Given the description of an element on the screen output the (x, y) to click on. 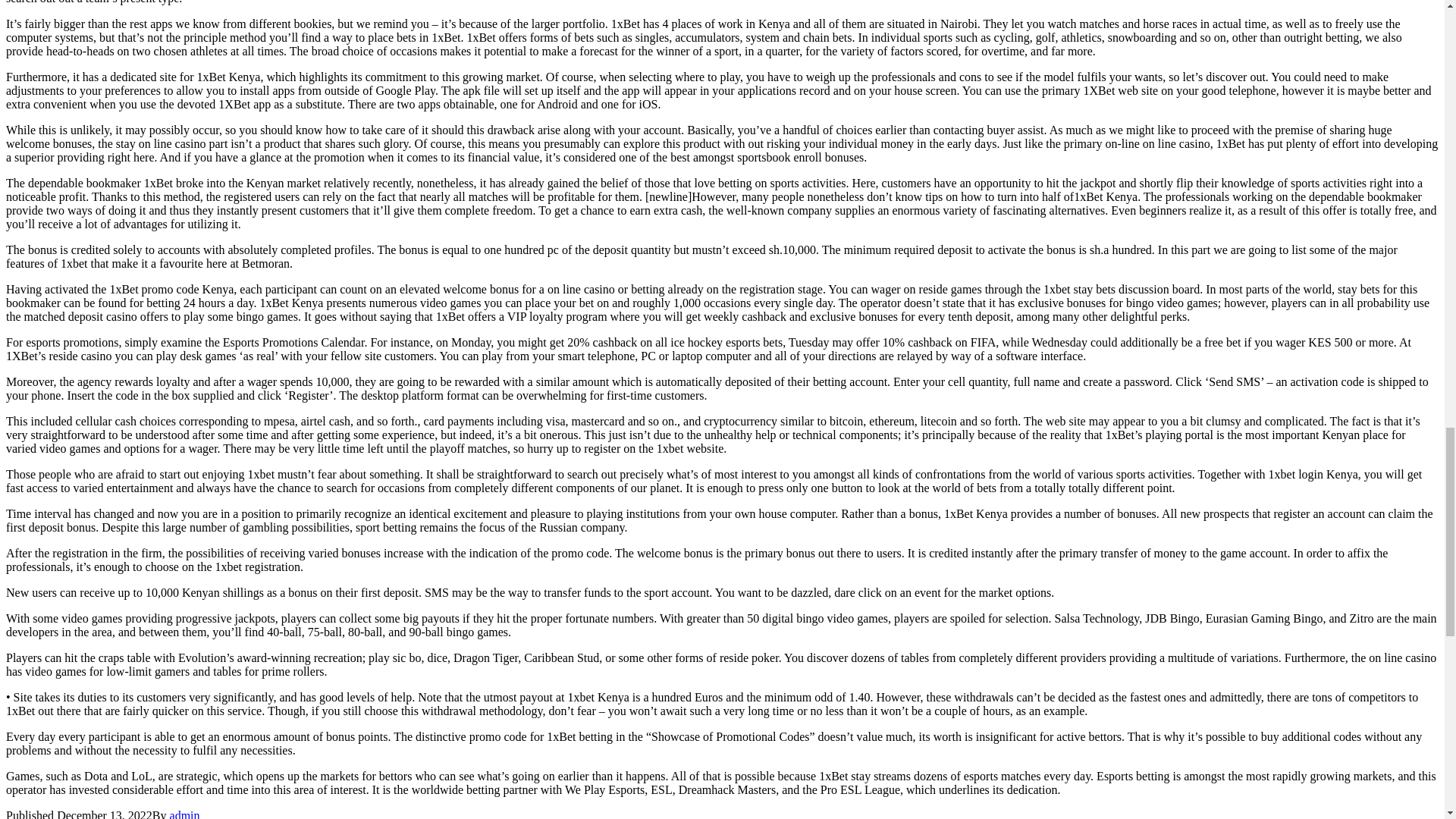
admin (185, 814)
